Given the description of an element on the screen output the (x, y) to click on. 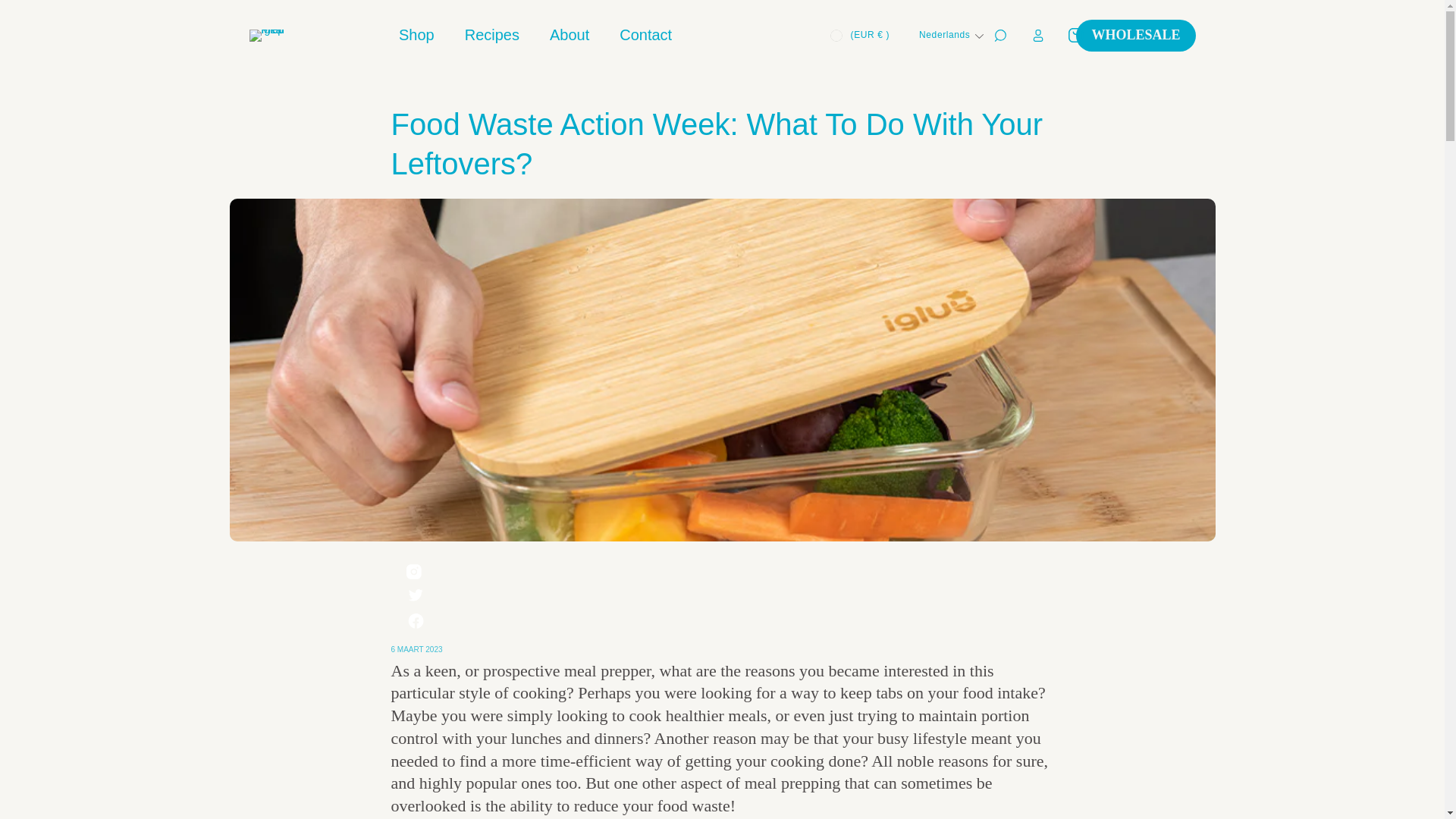
Meteen naar de content (45, 16)
